Given the description of an element on the screen output the (x, y) to click on. 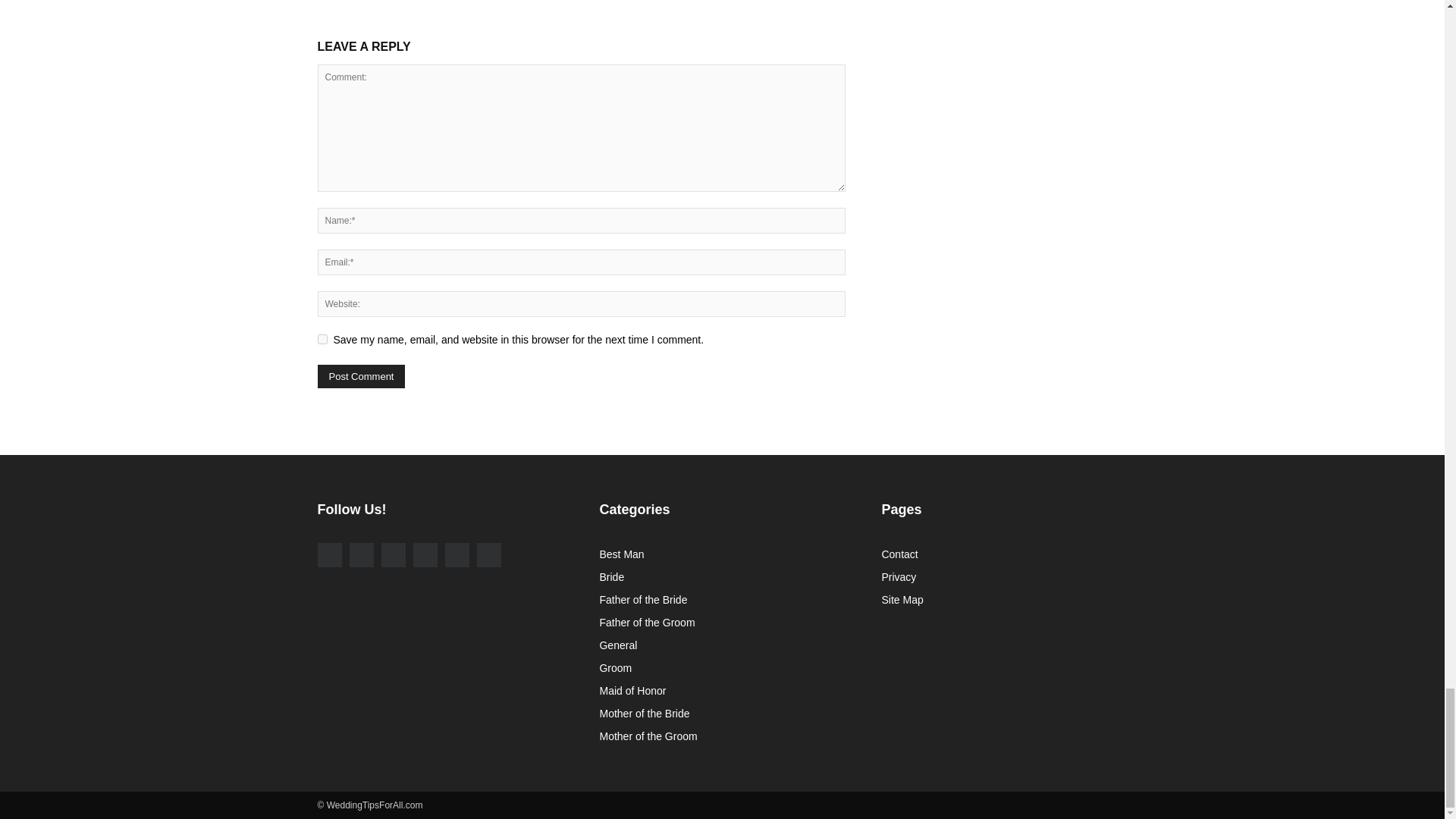
Follow Us on Twitter (392, 554)
Follow Us on Facebook (328, 554)
Post Comment (360, 376)
yes (321, 338)
